Given the description of an element on the screen output the (x, y) to click on. 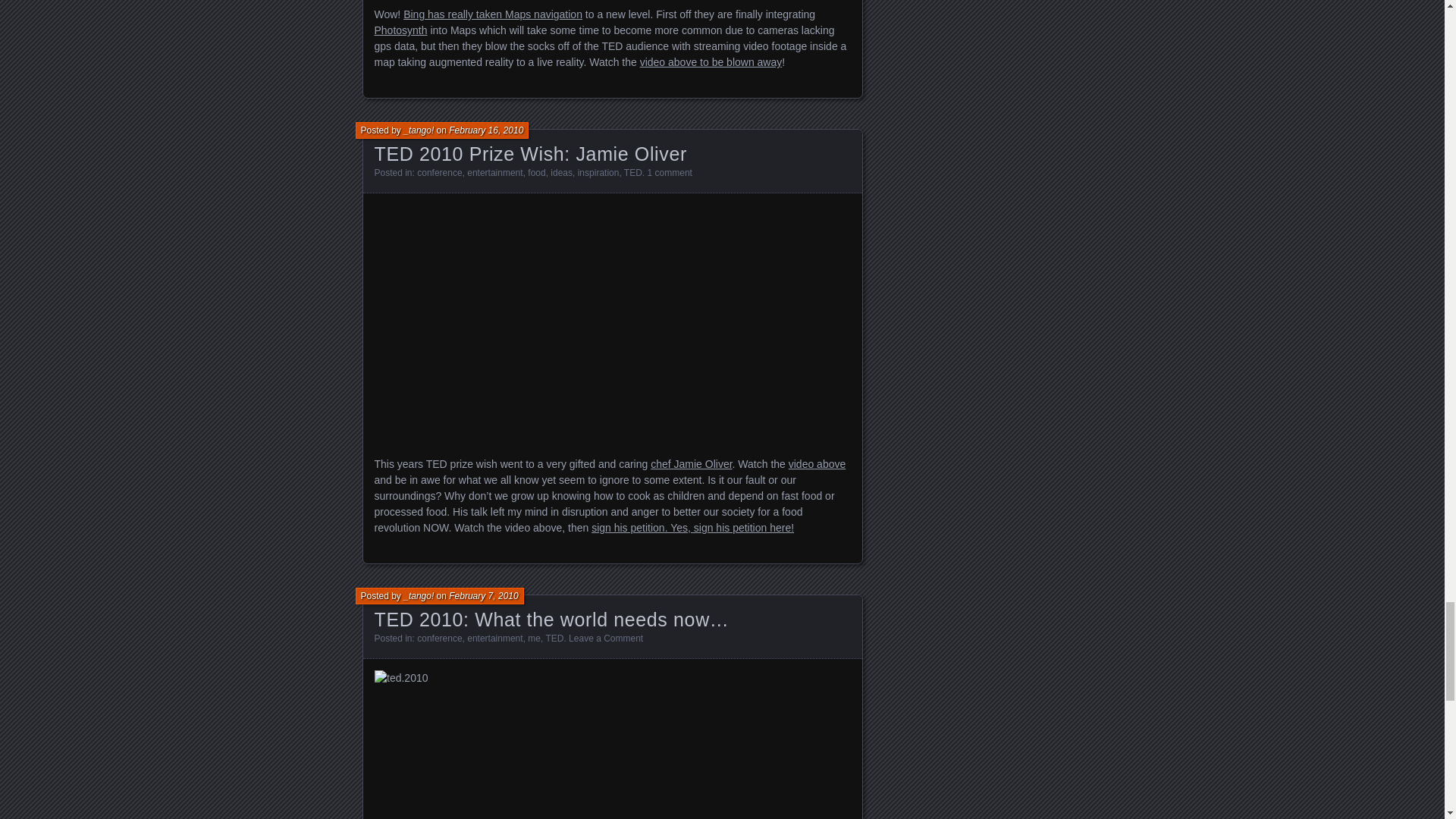
ted.2010 (612, 744)
